Given the description of an element on the screen output the (x, y) to click on. 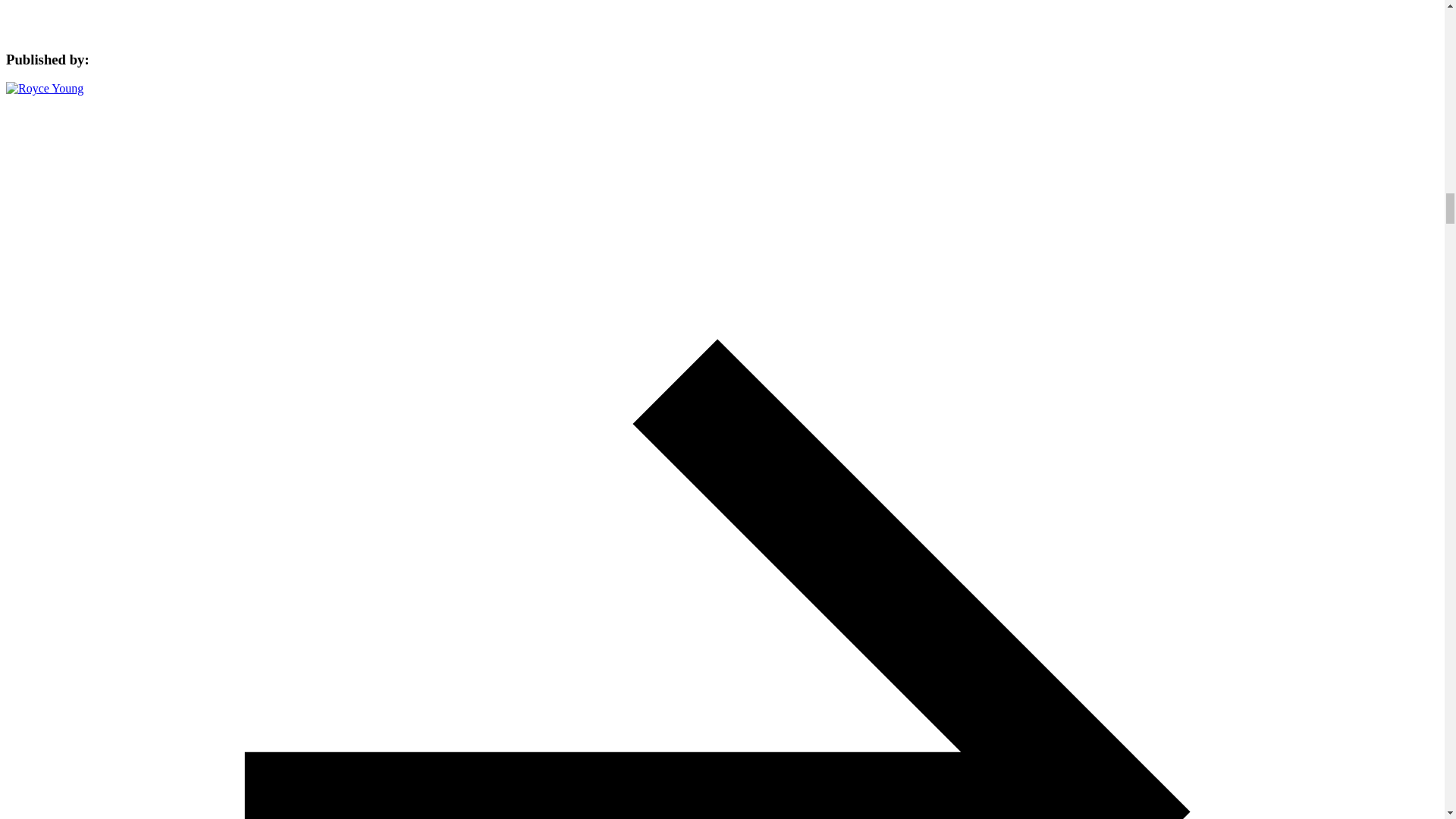
Royce Young (43, 88)
